Given the description of an element on the screen output the (x, y) to click on. 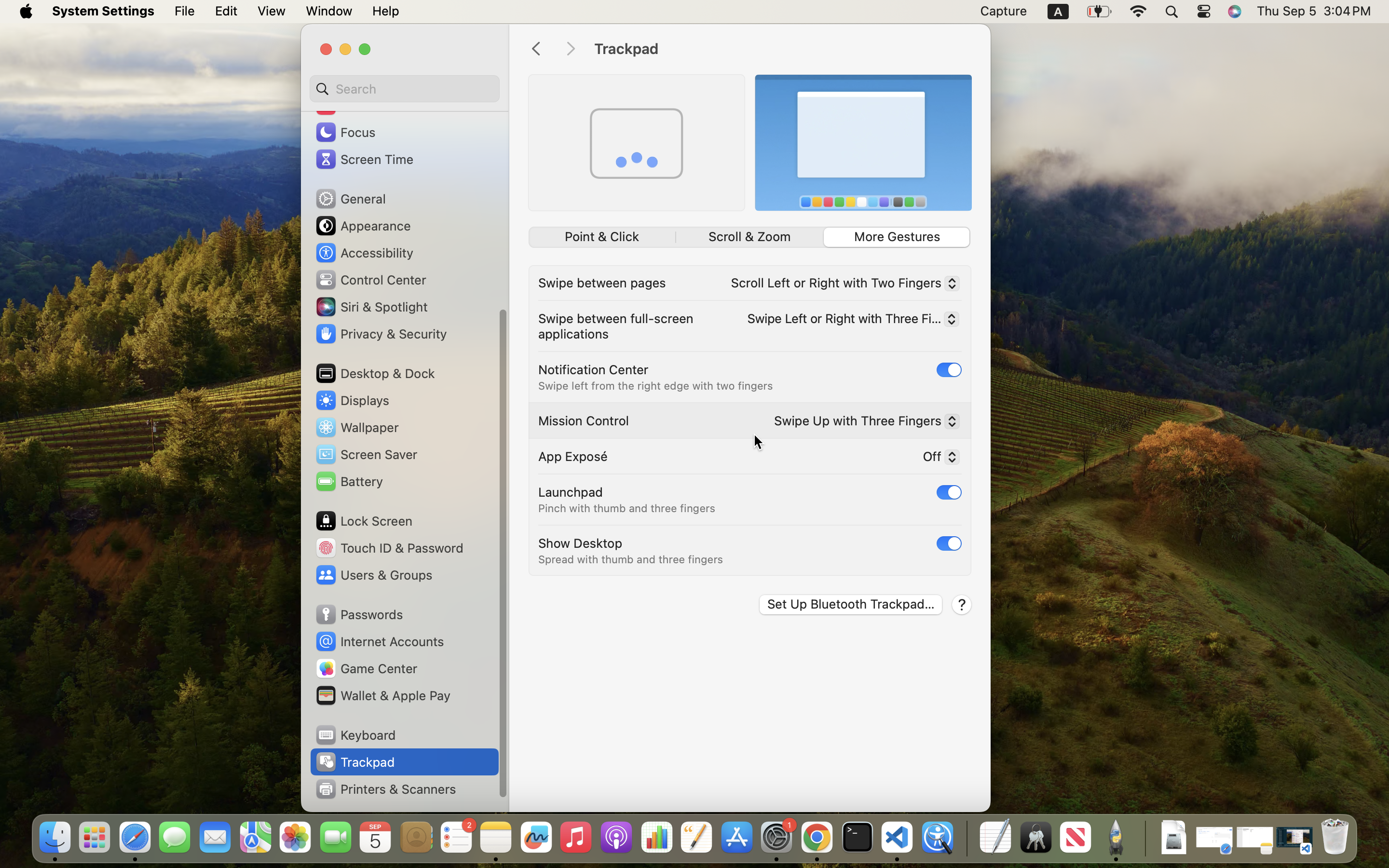
<AXUIElement 0x179d501d0> {pid=3099} Element type: AXTabGroup (749, 236)
Swipe between pages Element type: AXStaticText (601, 282)
Swipe left from the right edge with two fingers Element type: AXStaticText (655, 385)
